Given the description of an element on the screen output the (x, y) to click on. 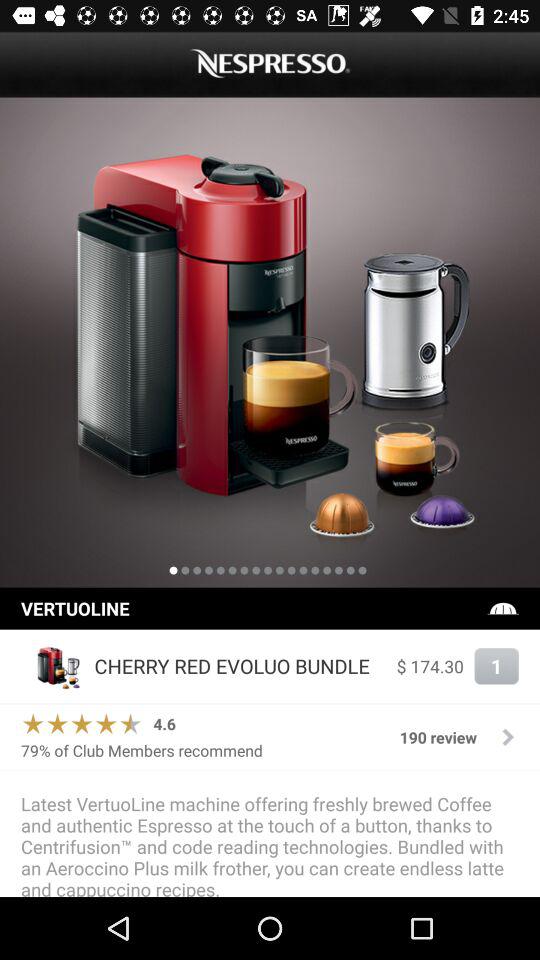
press the item next to vertuoline (503, 608)
